Given the description of an element on the screen output the (x, y) to click on. 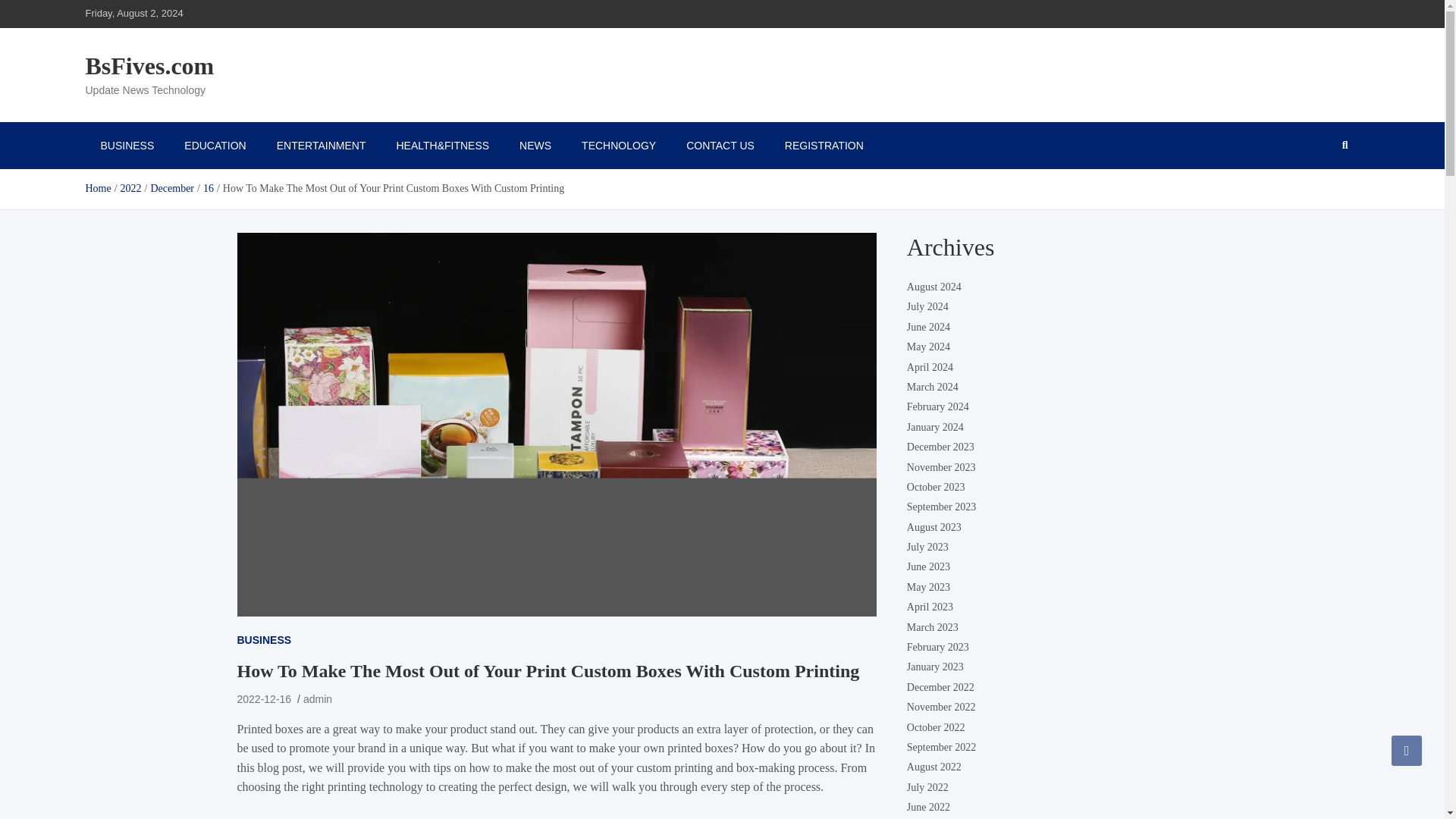
December 2023 (940, 446)
NEWS (534, 145)
2022 (130, 188)
BUSINESS (263, 639)
Home (97, 188)
TECHNOLOGY (618, 145)
Go to Top (1406, 750)
December (171, 188)
August 2024 (933, 286)
REGISTRATION (824, 145)
